Given the description of an element on the screen output the (x, y) to click on. 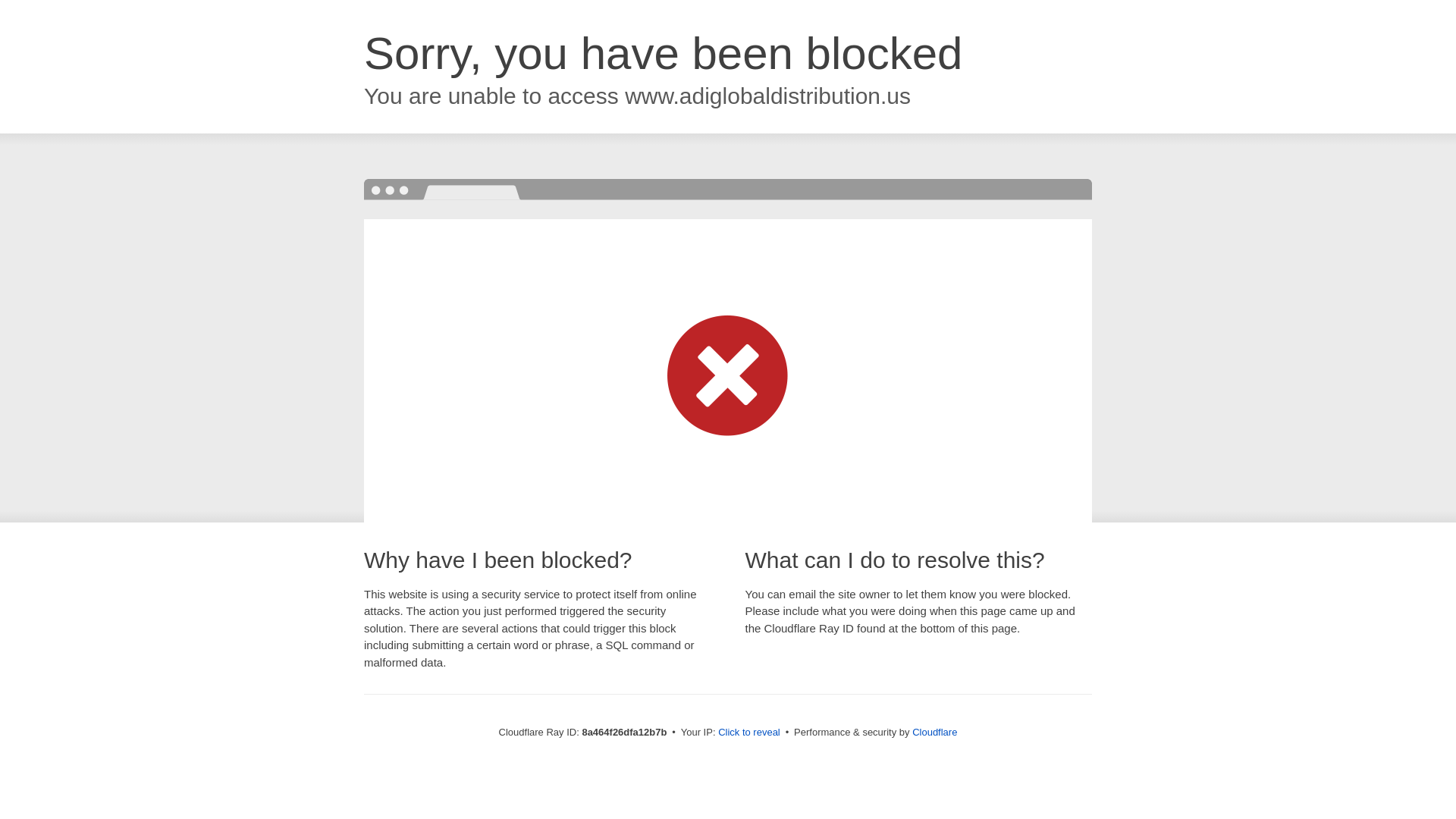
Cloudflare (934, 731)
Click to reveal (748, 732)
